Given the description of an element on the screen output the (x, y) to click on. 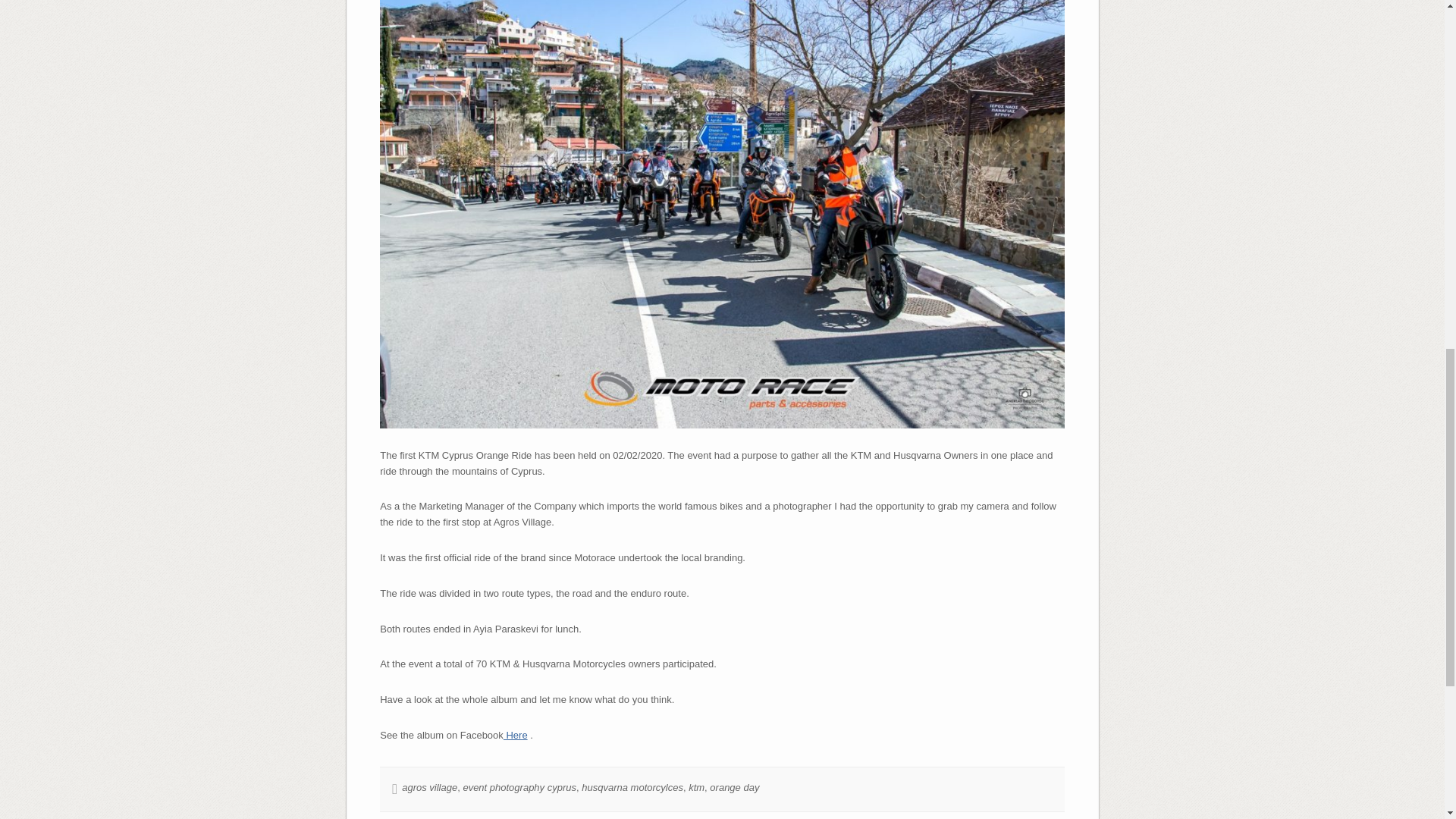
agros village (429, 787)
husqvarna motorcylces (631, 787)
event photography cyprus (519, 787)
orange day (734, 787)
ktm (696, 787)
Here (515, 735)
